Given the description of an element on the screen output the (x, y) to click on. 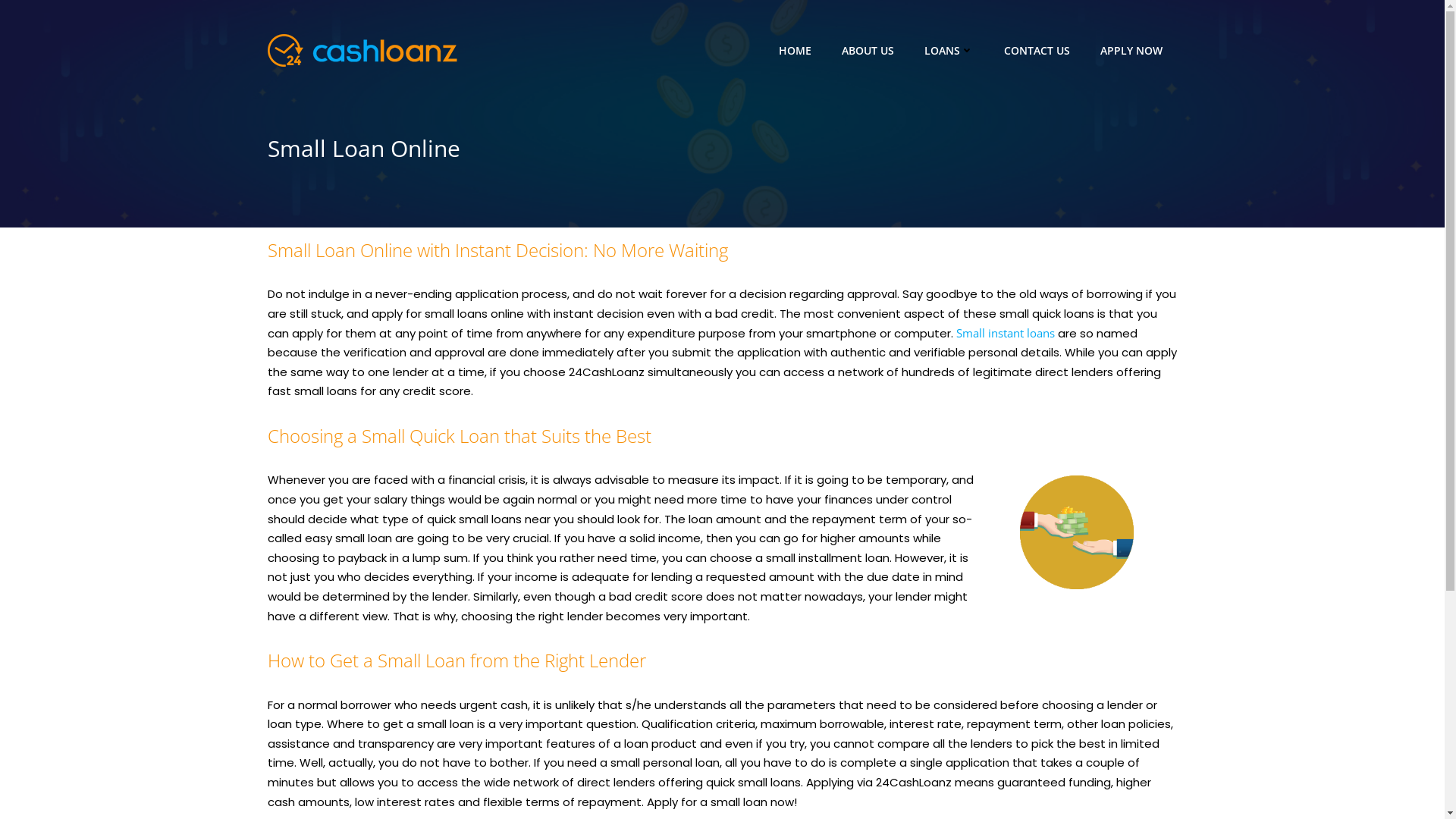
LOANS Element type: text (947, 50)
APPLY NOW Element type: text (1130, 50)
Small Loan Online Element type: text (721, 148)
HOME Element type: text (794, 50)
CONTACT US Element type: text (1037, 50)
Small instant loans Element type: text (1004, 332)
ABOUT US Element type: text (867, 50)
